Given the description of an element on the screen output the (x, y) to click on. 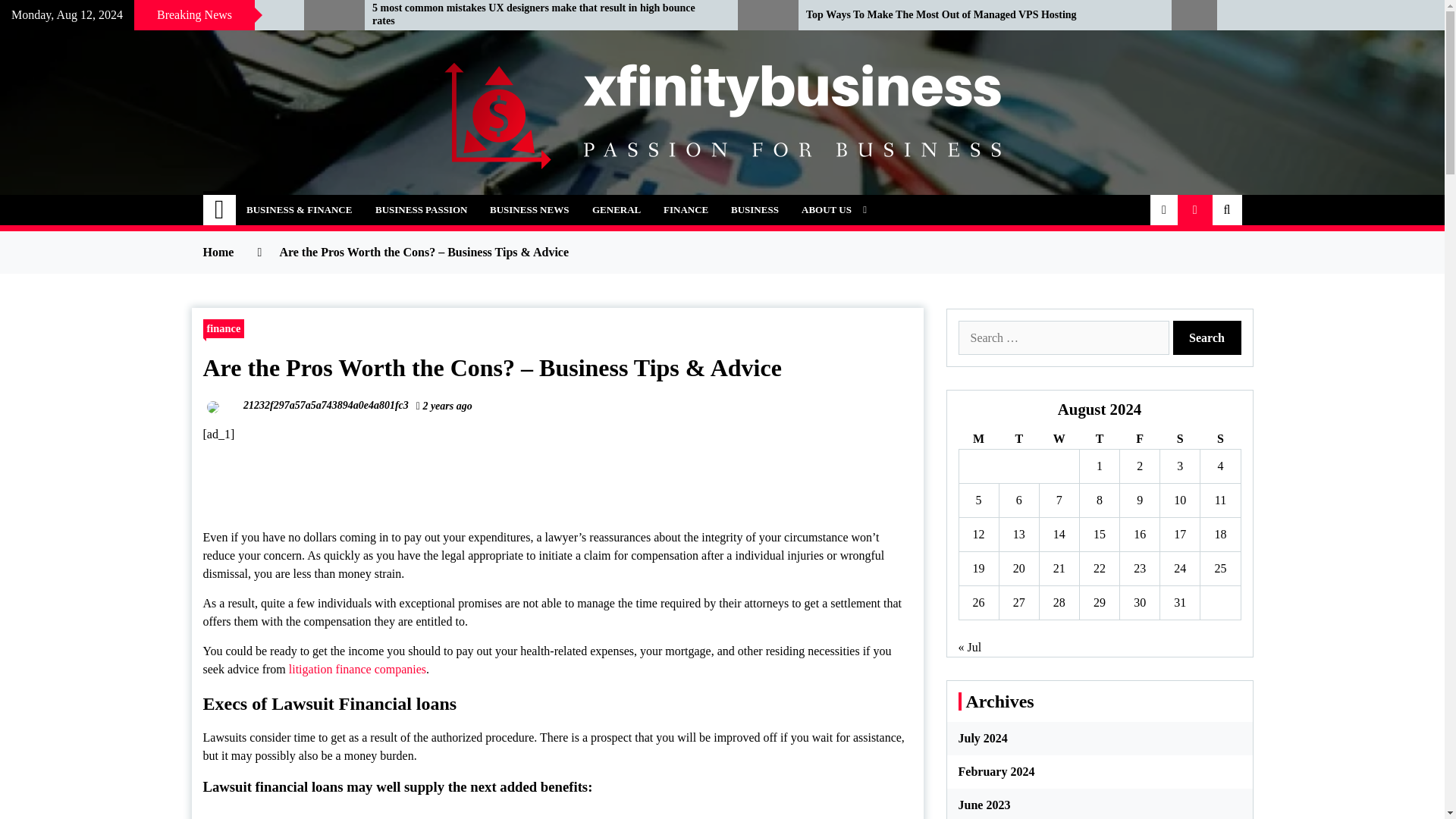
Saturday (1179, 439)
Search (1206, 337)
Tips To Scale Your Reseller Hosting Business  (140, 15)
Wednesday (1058, 439)
Monday (978, 439)
Thursday (1098, 439)
Top Ways To Make The Most Out of Managed VPS Hosting (977, 15)
Tuesday (1018, 439)
Sunday (1219, 439)
